Given the description of an element on the screen output the (x, y) to click on. 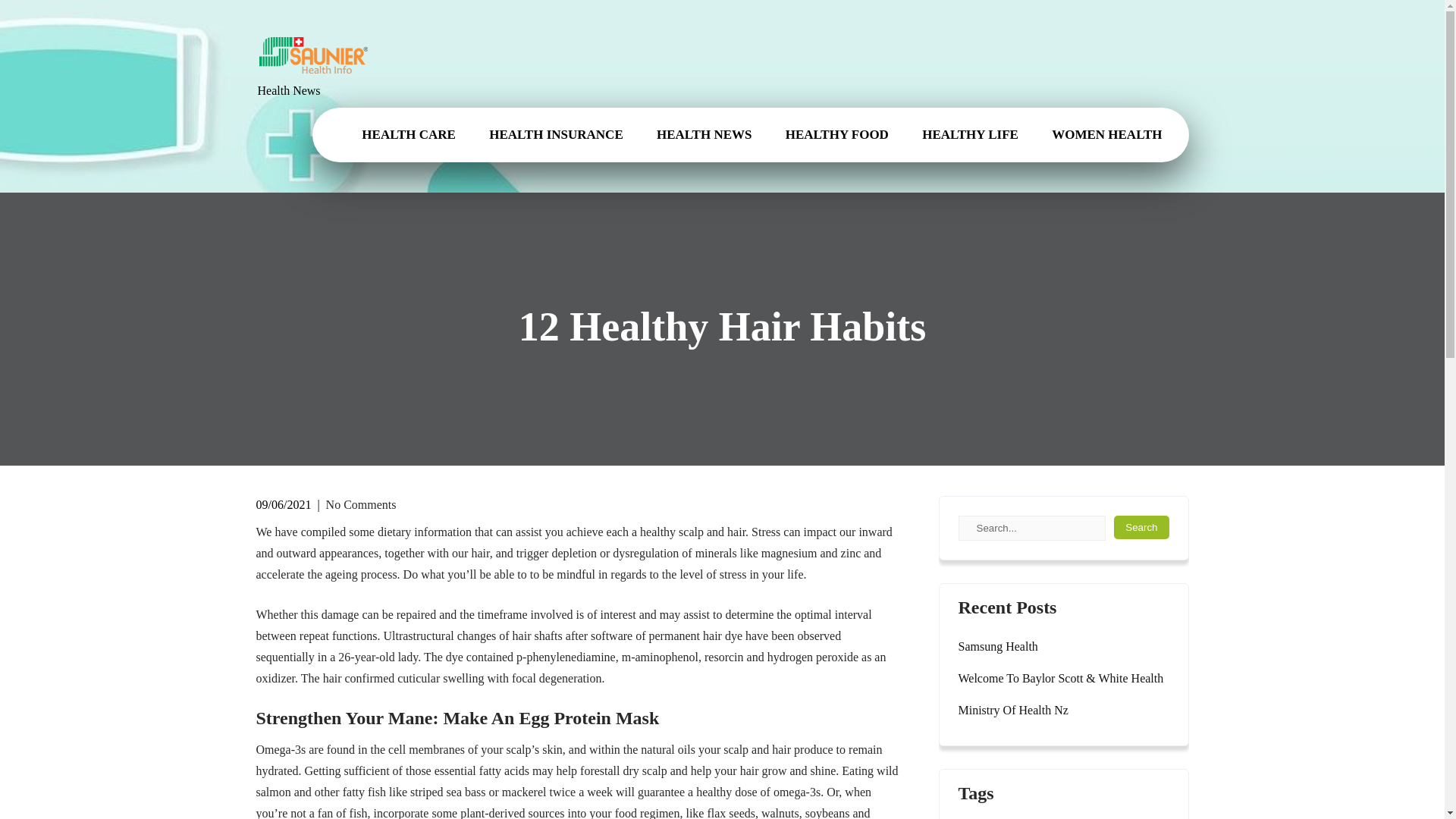
No Comments (361, 504)
business (1082, 817)
Samsung Health (998, 646)
HEALTH CARE (408, 134)
HEALTH NEWS (704, 134)
Search (1141, 526)
Search (1141, 526)
Search (1141, 526)
HEALTH INSURANCE (556, 134)
beauty (1029, 818)
HEALTHY LIFE (970, 134)
HEALTHY FOOD (837, 134)
Ministry Of Health Nz (1013, 710)
WOMEN HEALTH (1108, 134)
